Given the description of an element on the screen output the (x, y) to click on. 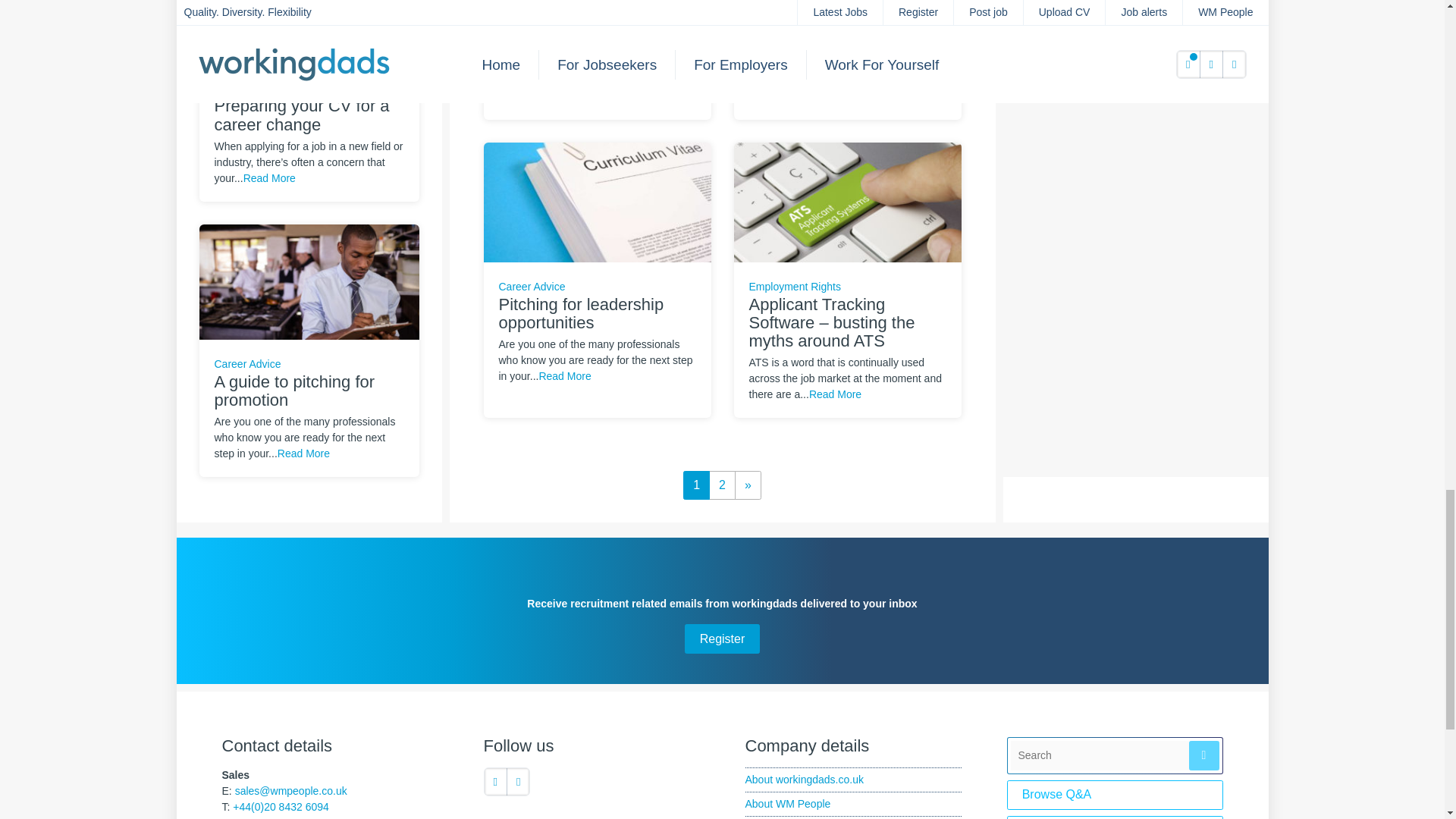
Pitching for leadership opportunities (597, 201)
A guide to pitching for promotion (308, 280)
Preparing your CV for a career change (308, 5)
